Given the description of an element on the screen output the (x, y) to click on. 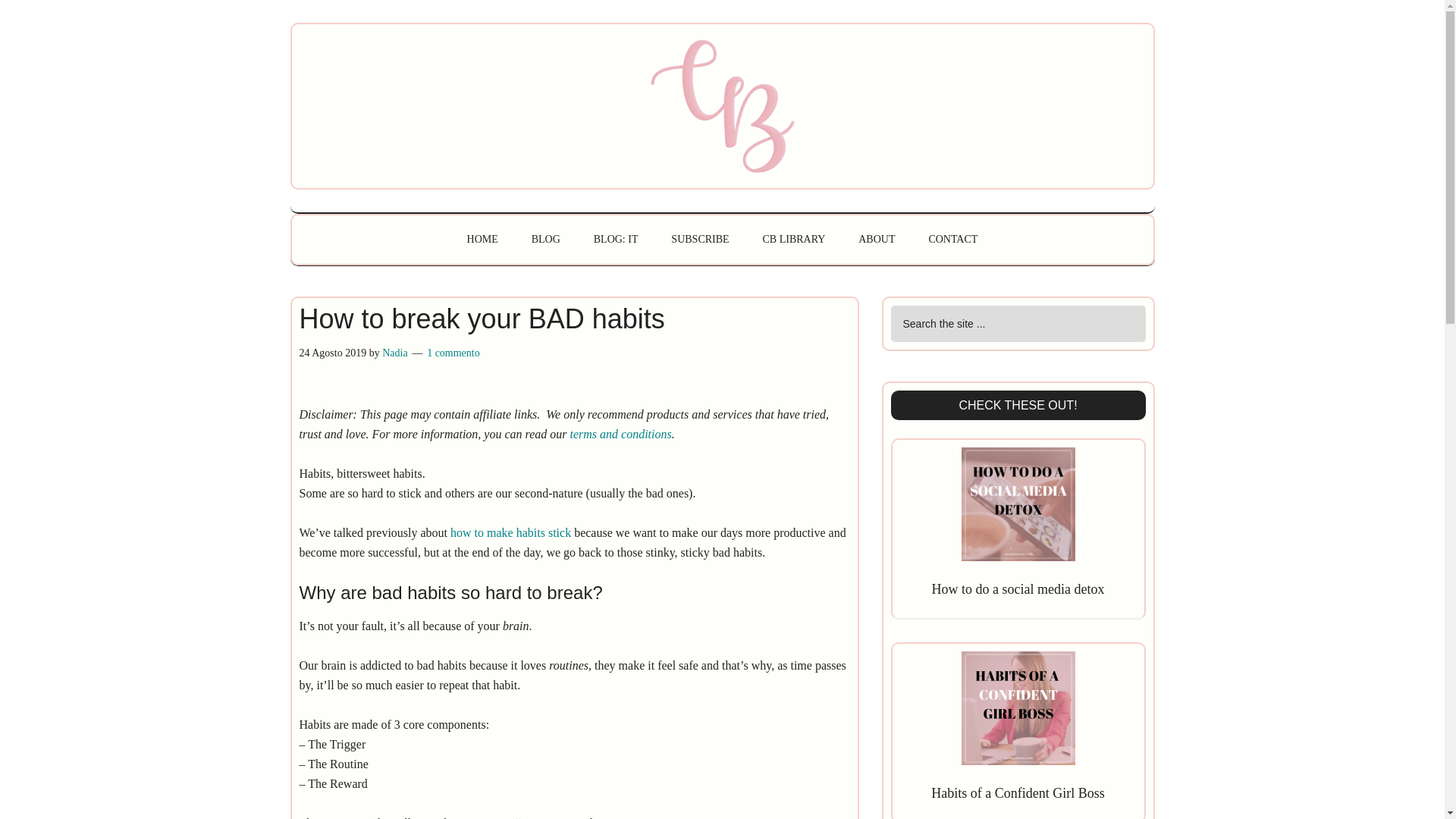
Nadia (394, 352)
1 commento (453, 352)
CONTACT (952, 239)
BLOG: IT (615, 239)
SUBSCRIBE (700, 239)
how to make habits stick (509, 532)
Habits of a Confident Girl Boss (1017, 792)
terms and conditions (620, 433)
